Given the description of an element on the screen output the (x, y) to click on. 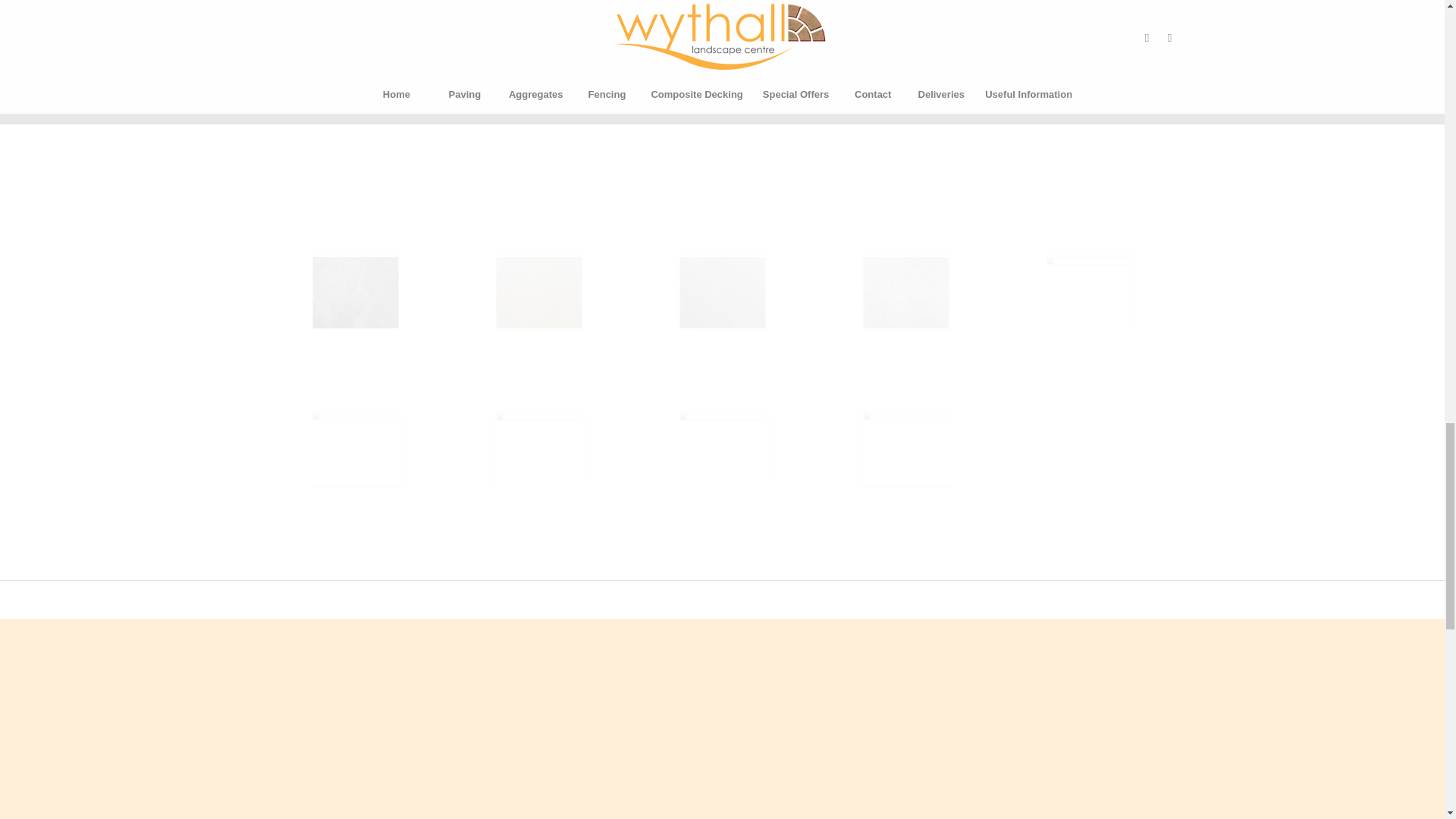
Landscape Beige (538, 292)
landscape beige (585, 330)
landscape anthracite (400, 330)
Landscape Anthracite (354, 292)
